Given the description of an element on the screen output the (x, y) to click on. 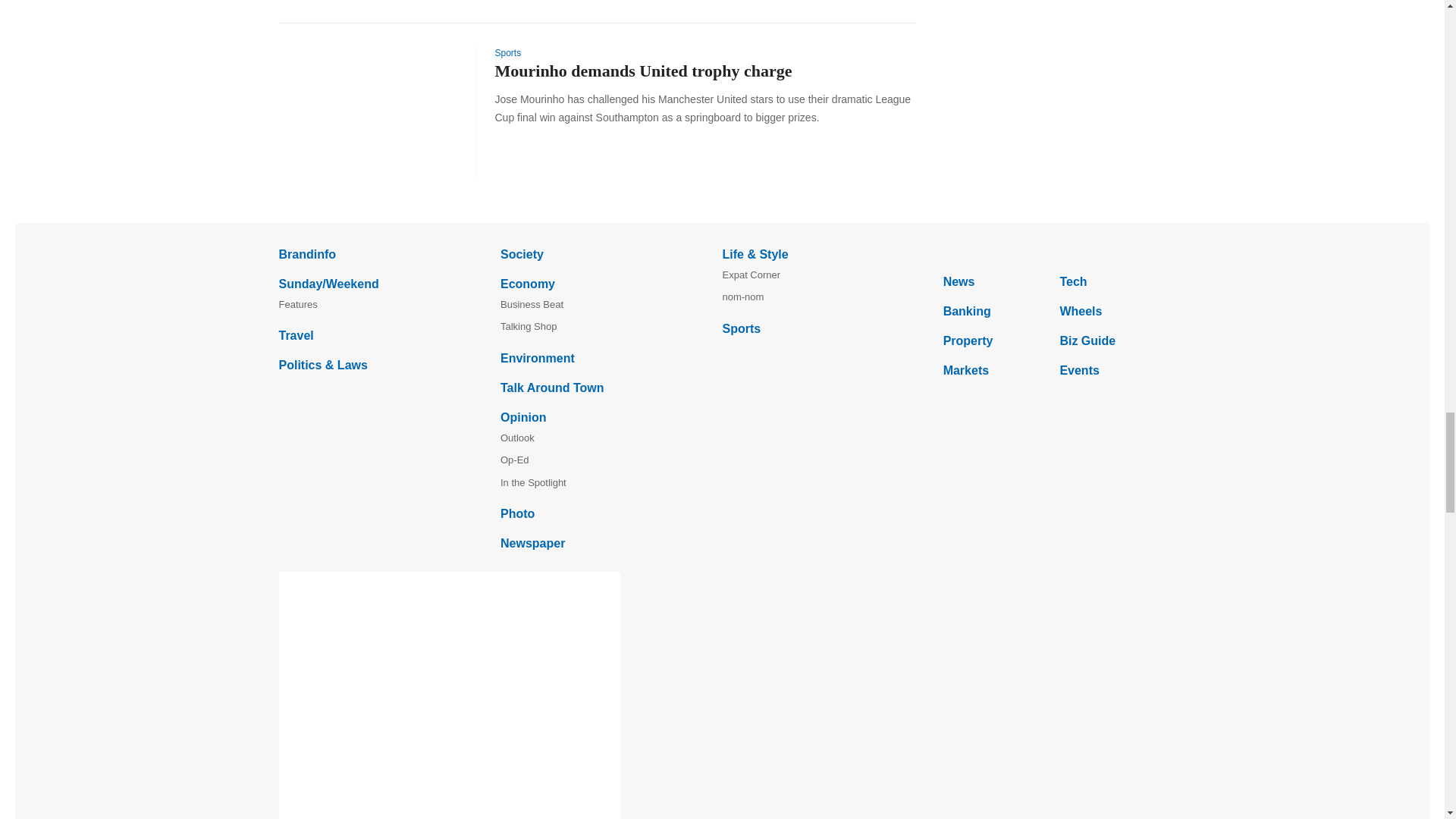
bizhub (1054, 253)
